Given the description of an element on the screen output the (x, y) to click on. 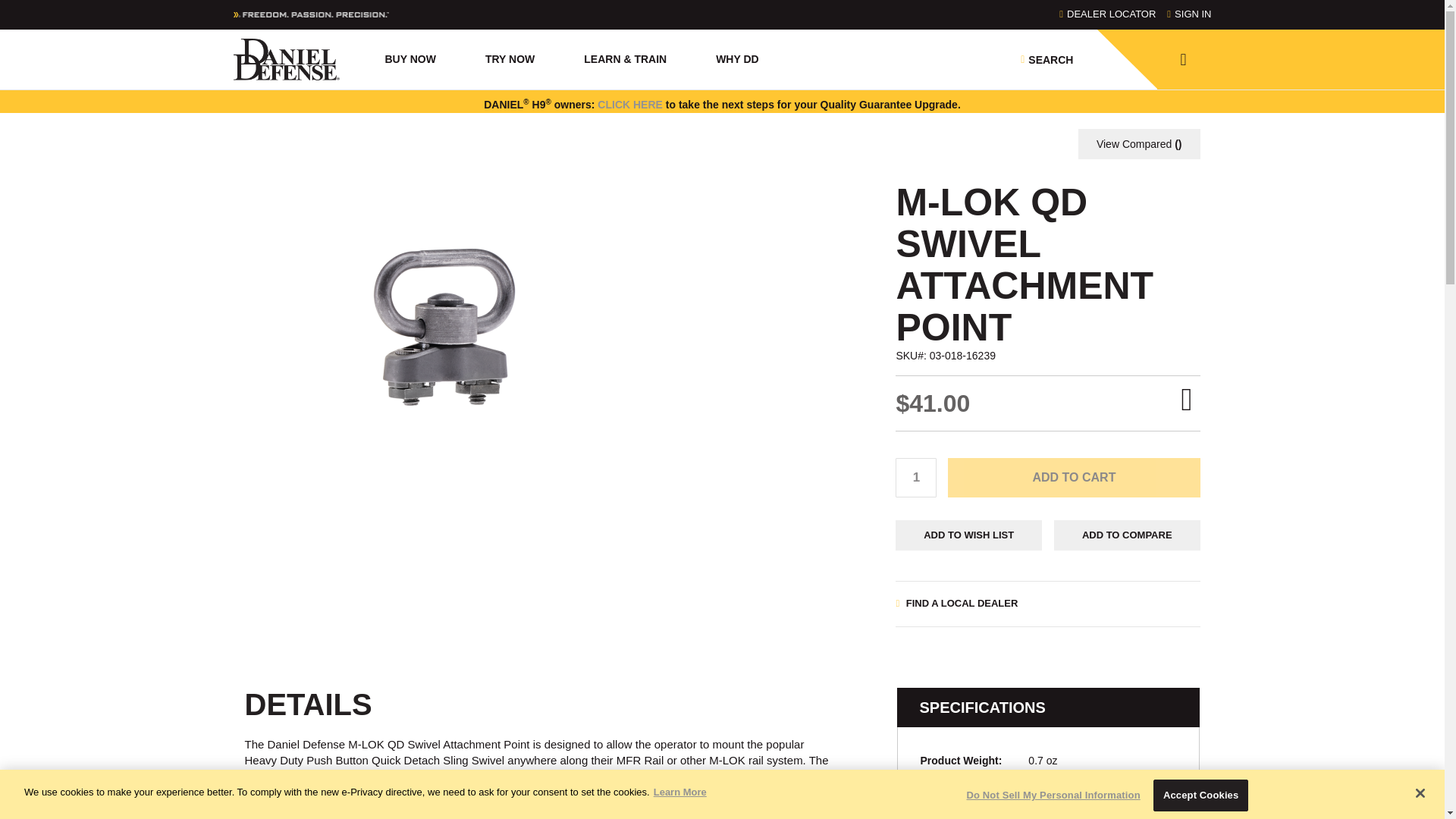
1 (915, 477)
Daniel Defense Logo (285, 59)
View Compared (1138, 143)
BUY NOW (418, 60)
Daniel Defense Logo (285, 59)
SIGN IN (1189, 14)
Qty (915, 477)
Add to Cart (1073, 477)
DEALER LOCATOR (1107, 14)
